Given the description of an element on the screen output the (x, y) to click on. 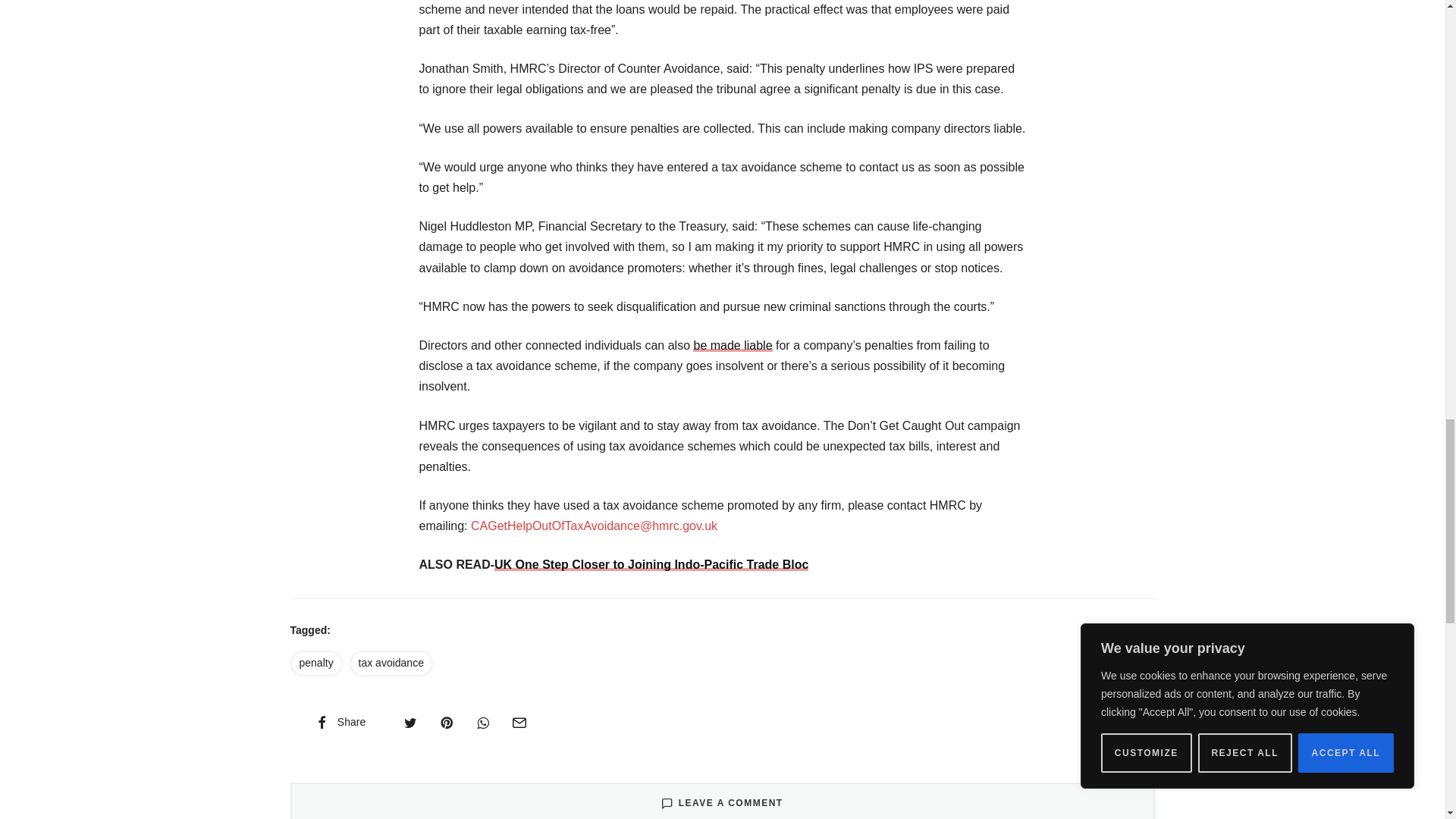
Share on Facebook (338, 721)
Share on Twitter (409, 721)
Share on Whatsapp (482, 721)
Share via Email (518, 721)
Pin this Post (445, 721)
